Given the description of an element on the screen output the (x, y) to click on. 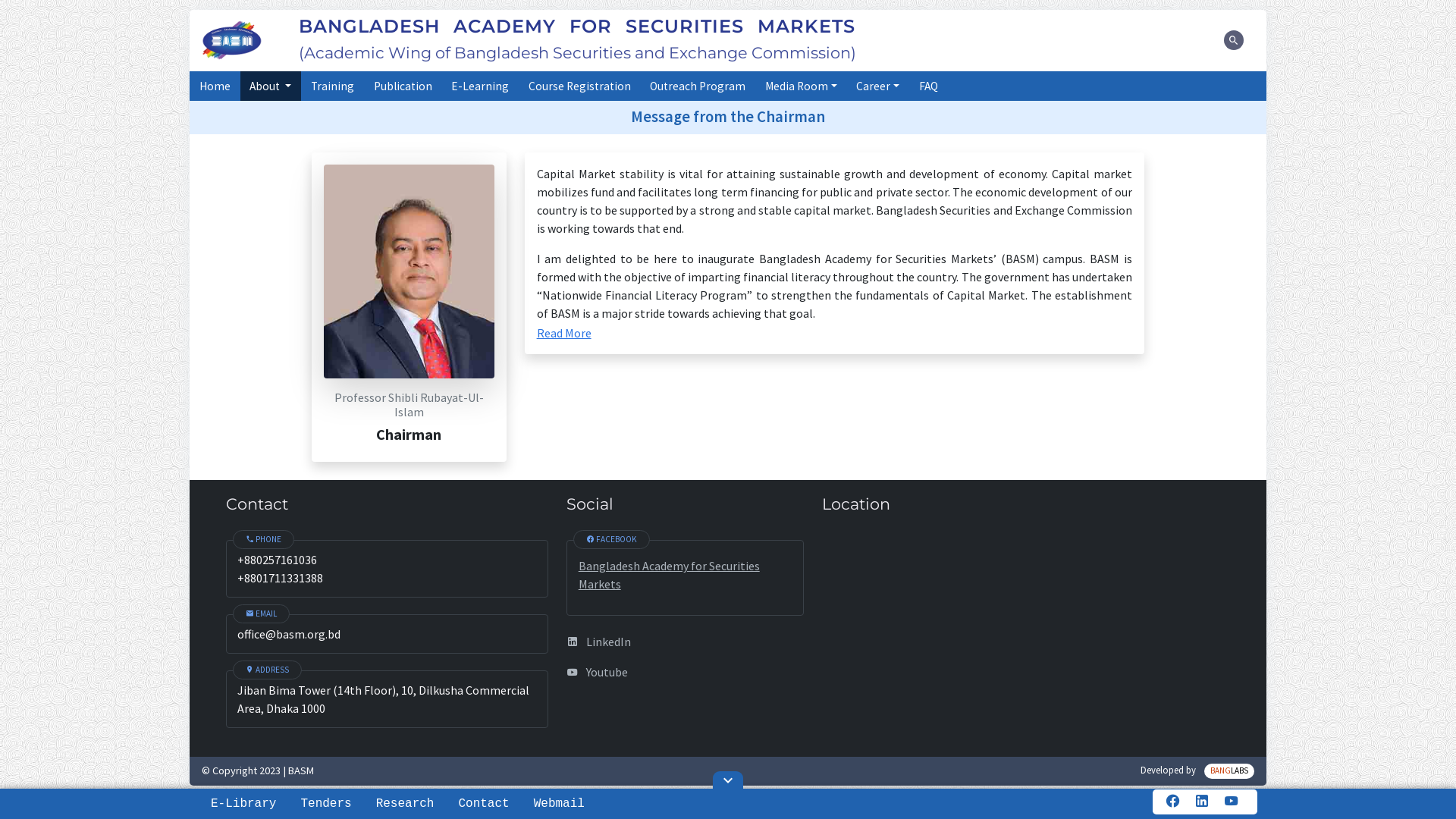
Bangladesh Academy for Securities Markets Element type: text (668, 574)
E-Learning Element type: text (479, 85)
Read More Element type: text (563, 332)
Publication Element type: text (403, 85)
Career Element type: text (878, 85)
About Element type: text (270, 85)
BANGLABS Element type: text (1229, 770)
Media Room Element type: text (801, 85)
Course Registration Element type: text (579, 85)
LinkedIn Element type: text (684, 641)
Youtube Element type: text (684, 671)
Training Element type: text (332, 85)
FAQ Element type: text (928, 85)
Outreach Program Element type: text (697, 85)
Home Element type: text (214, 85)
